Given the description of an element on the screen output the (x, y) to click on. 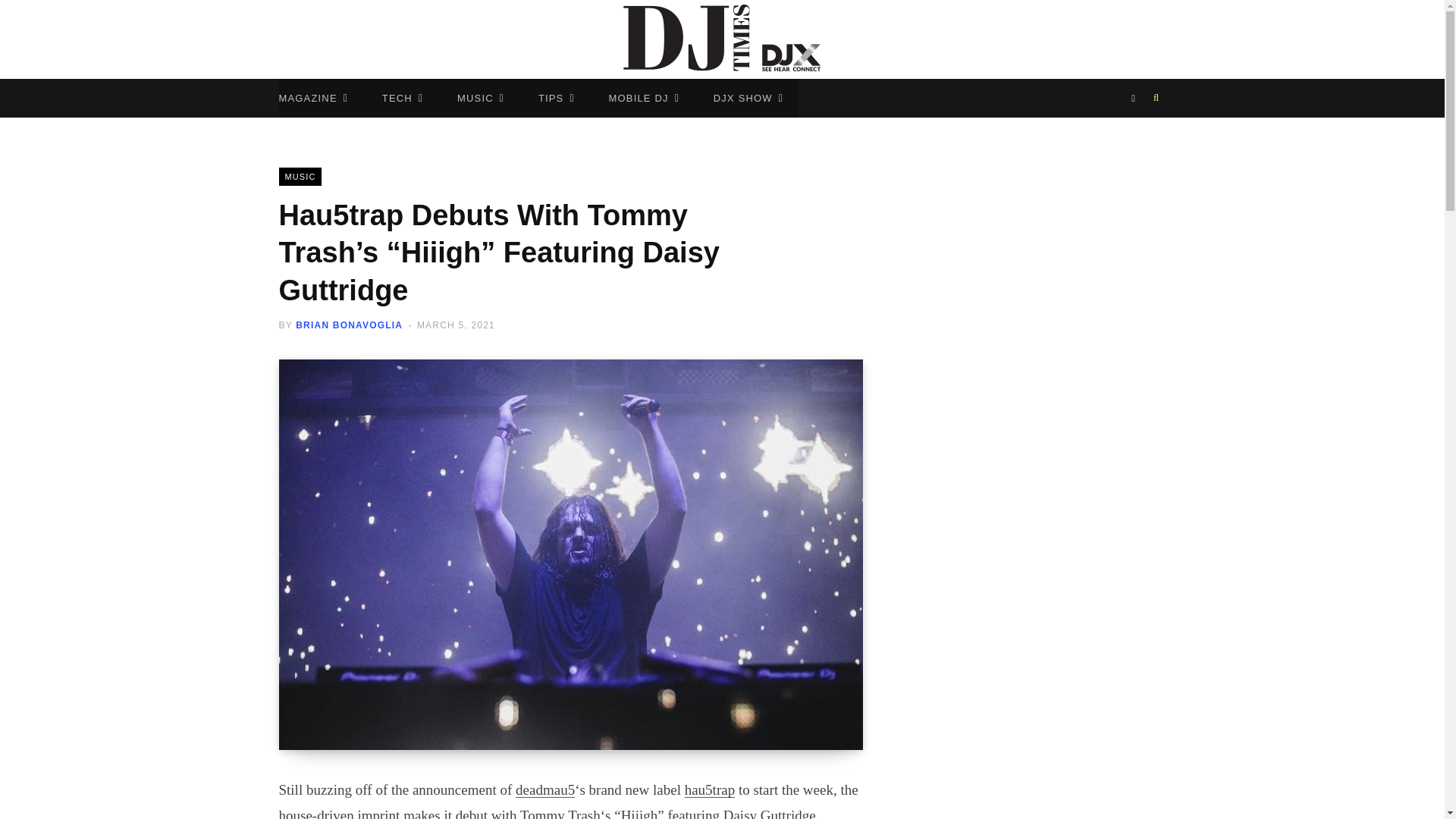
MAGAZINE (313, 97)
The Nexus of All Things DJ (722, 39)
